Given the description of an element on the screen output the (x, y) to click on. 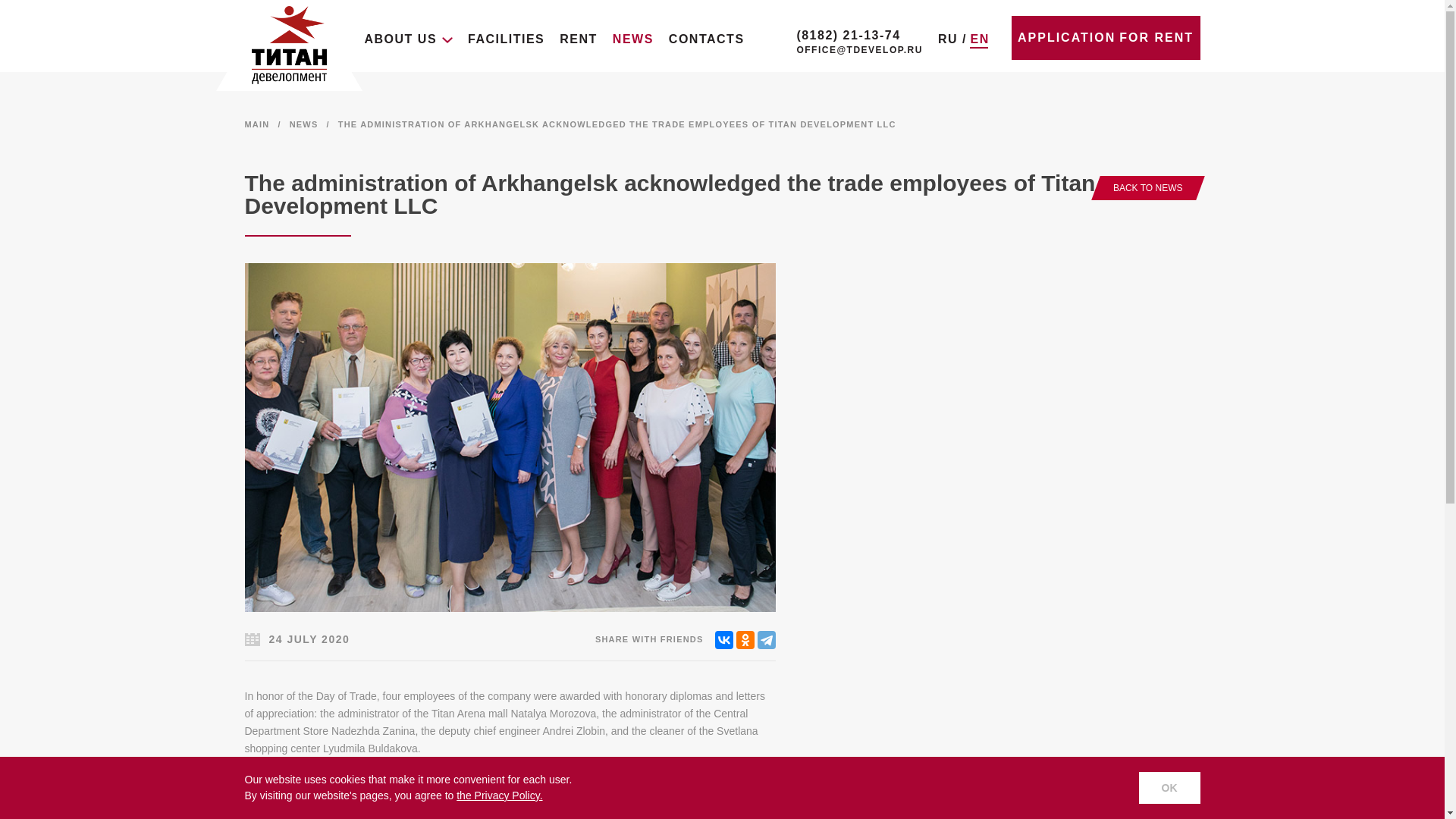
RENT (577, 38)
MAIN (256, 124)
the Privacy Policy. (499, 795)
CONTACTS (706, 38)
EN (978, 40)
BACK TO NEWS (1147, 187)
Telegram (765, 639)
OK (1168, 787)
NEWS (303, 124)
FACILITIES (505, 38)
APPLICATIONFOR RENT (1105, 37)
NEWS (632, 38)
RU (947, 38)
ABOUT US (408, 38)
